Given the description of an element on the screen output the (x, y) to click on. 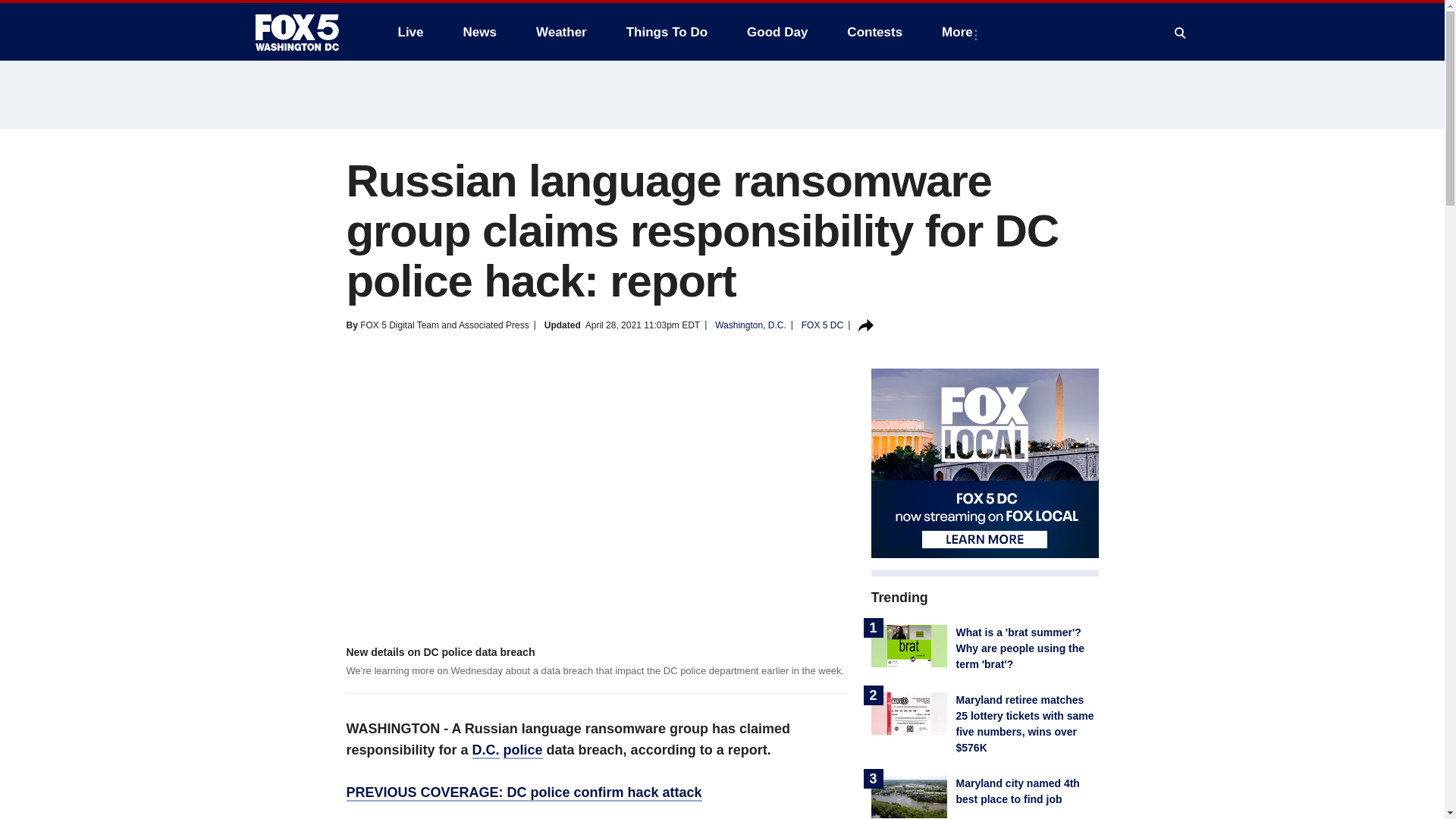
Good Day (777, 32)
Live (410, 32)
Things To Do (666, 32)
More (960, 32)
Contests (874, 32)
Weather (561, 32)
News (479, 32)
